Given the description of an element on the screen output the (x, y) to click on. 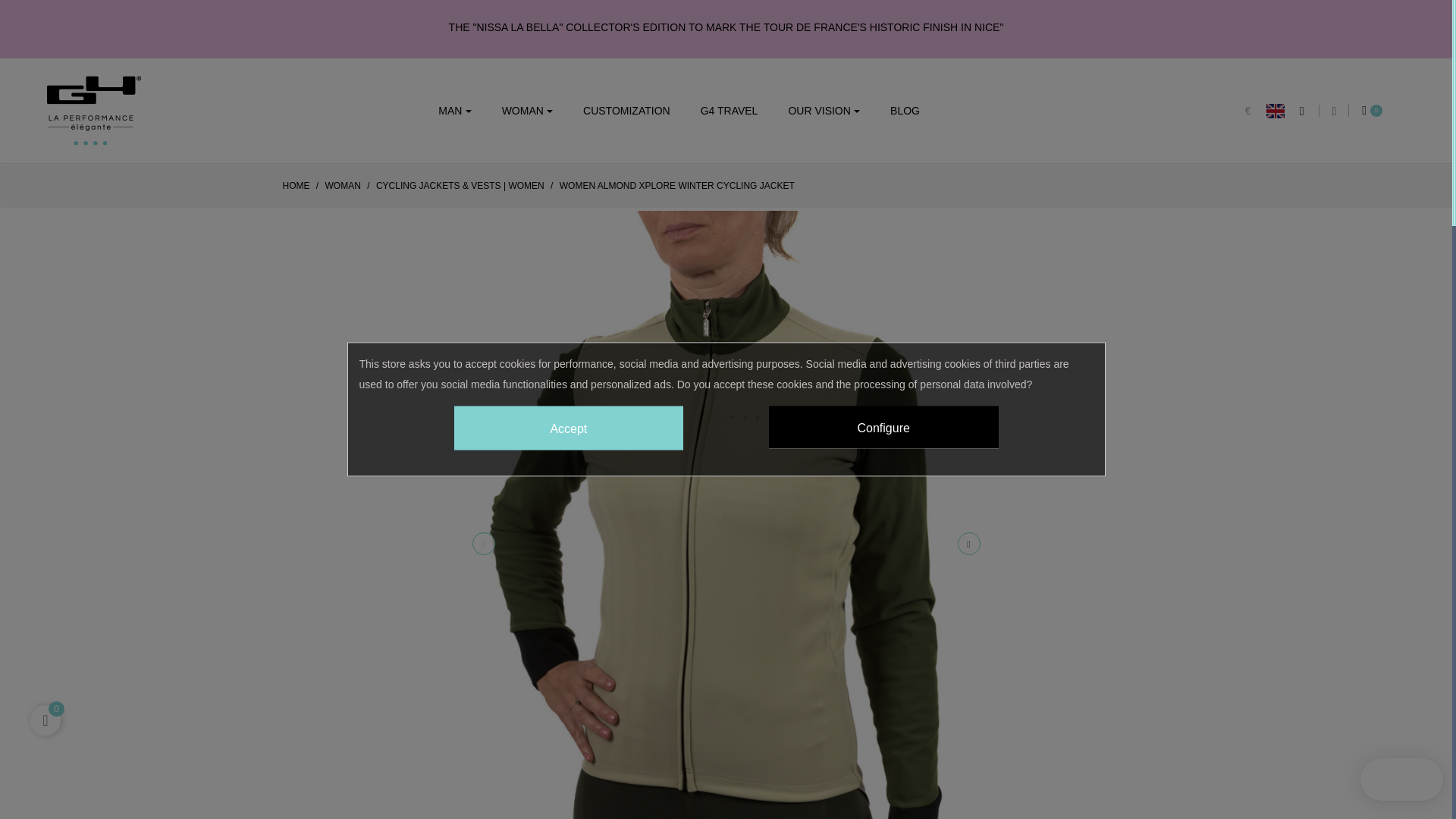
MAN (454, 109)
Language (1283, 110)
